Given the description of an element on the screen output the (x, y) to click on. 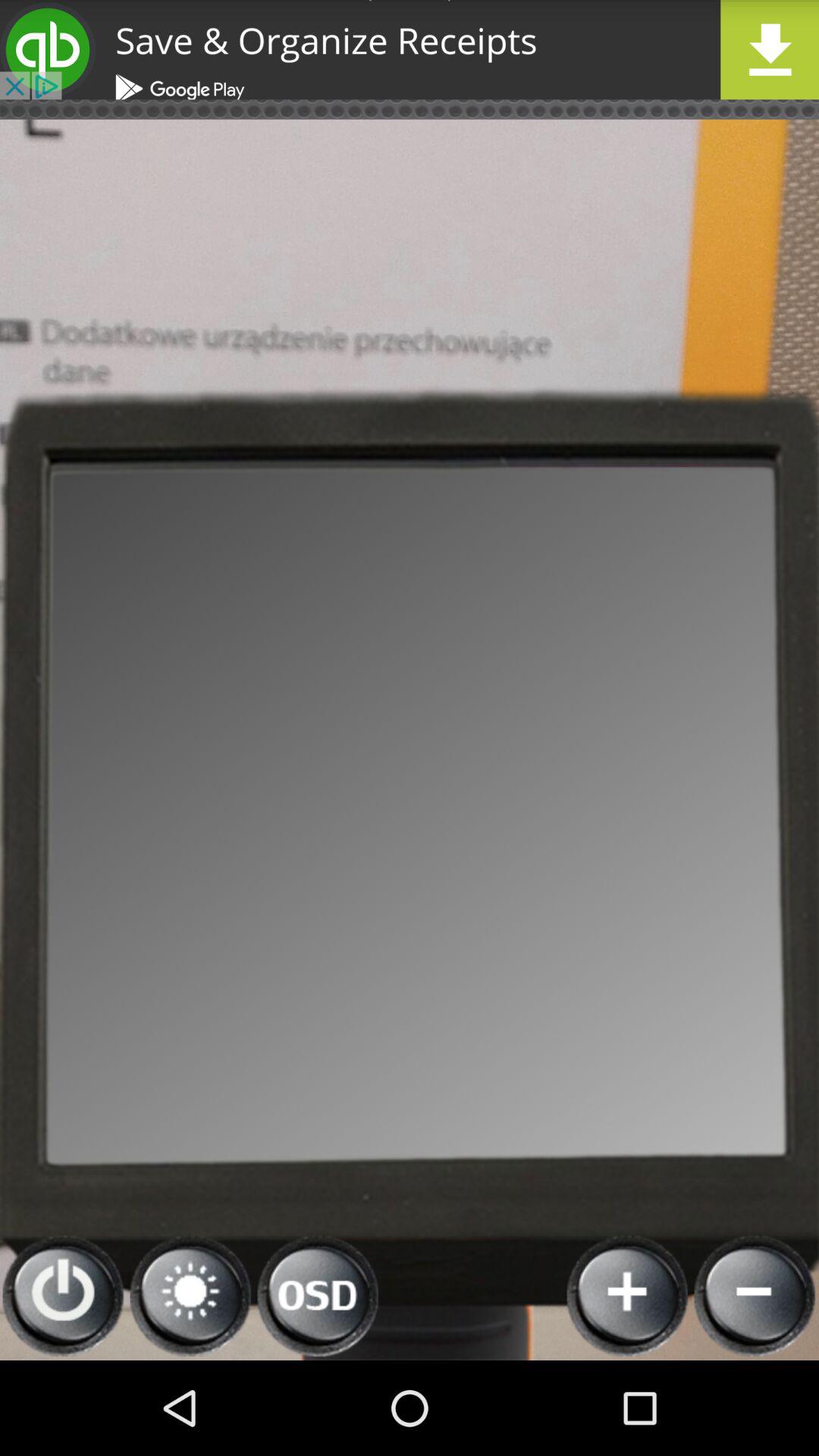
add to image (627, 1296)
